Given the description of an element on the screen output the (x, y) to click on. 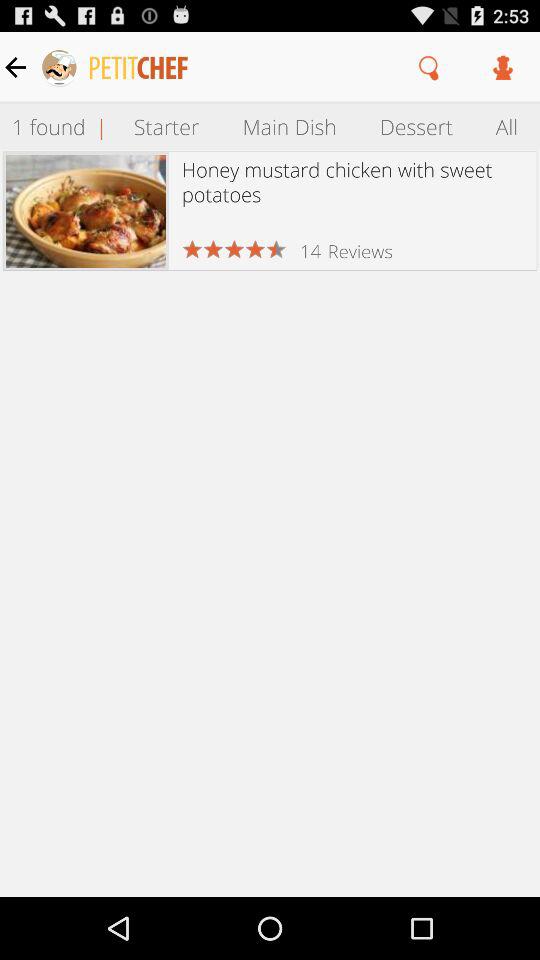
jump to the dessert item (416, 126)
